Given the description of an element on the screen output the (x, y) to click on. 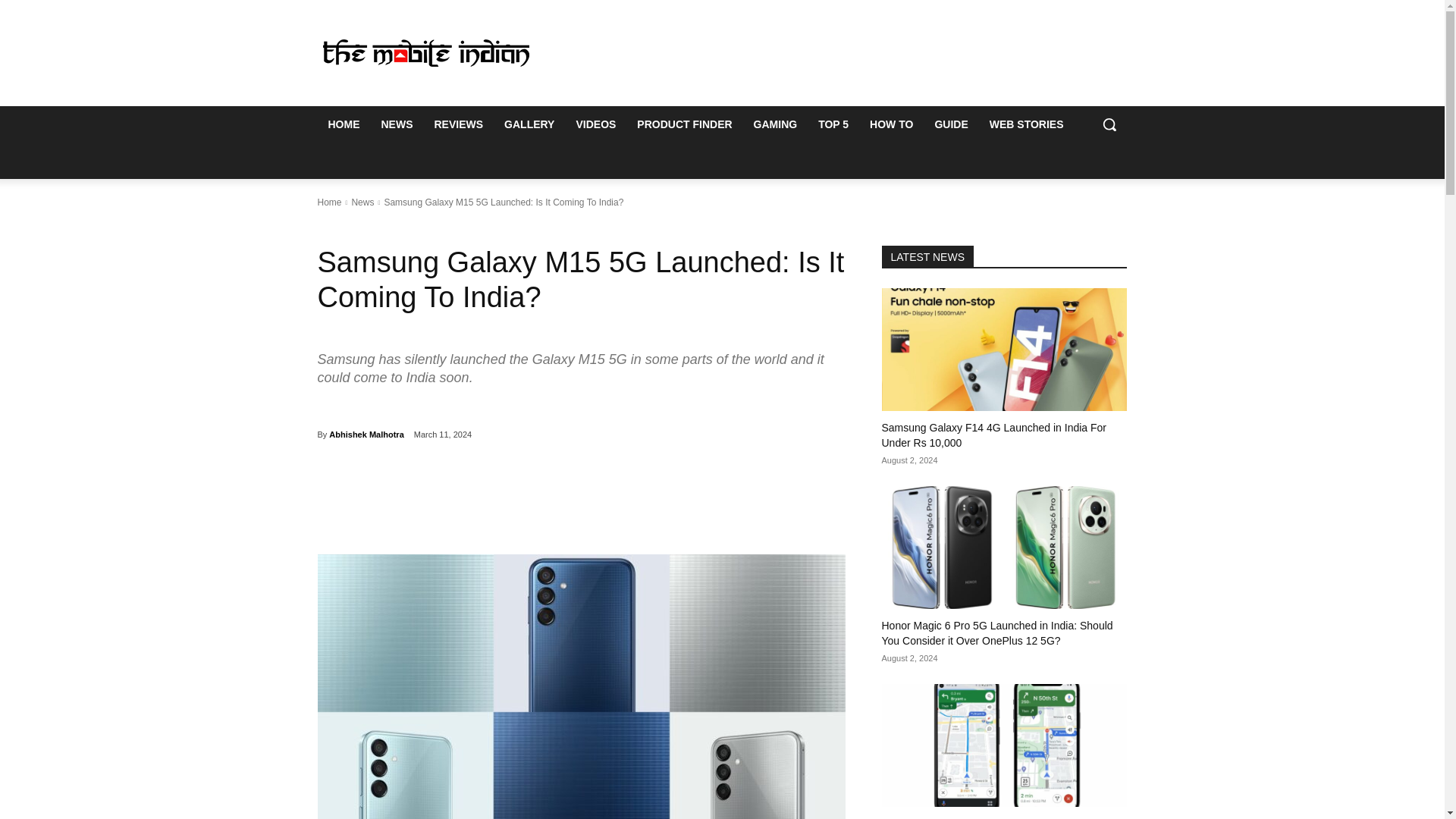
The Mobile Indian (425, 52)
HOW TO (891, 124)
TOP 5 (833, 124)
Home (328, 202)
GUIDE (950, 124)
PRODUCT FINDER (684, 124)
GAMING (775, 124)
WEB STORIES (1026, 124)
Abhishek Malhotra (366, 434)
News (362, 202)
